Given the description of an element on the screen output the (x, y) to click on. 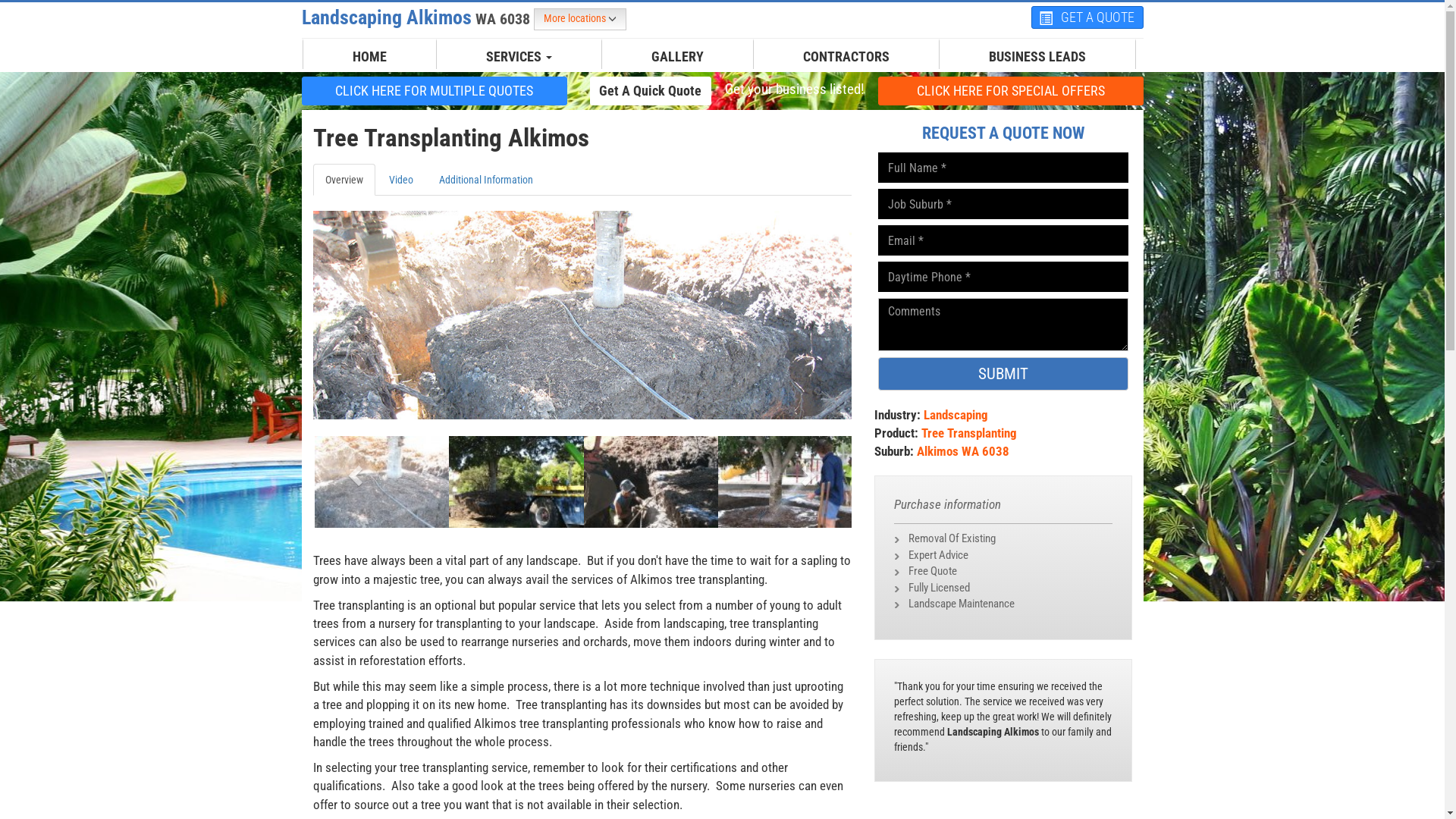
CONTRACTORS Element type: text (845, 56)
HOME Element type: text (369, 56)
Video Element type: text (400, 179)
GET A QUOTE Element type: text (1087, 17)
Get A Quick Quote Element type: text (650, 90)
GALLERY Element type: text (677, 56)
SERVICES Element type: text (518, 56)
SUBMIT Element type: text (1003, 373)
Get your business listed! Element type: text (793, 89)
CLICK HERE FOR SPECIAL OFFERS Element type: text (1010, 90)
More locations Element type: text (579, 19)
Get A Quick Quote Element type: text (650, 90)
prev Element type: hover (352, 470)
Additional Information Element type: text (485, 179)
CLICK HERE FOR MULTIPLE QUOTES Element type: text (434, 90)
BUSINESS LEADS Element type: text (1036, 56)
Landscaping Alkimos WA 6038 Element type: text (417, 17)
CLICK HERE FOR SPECIAL OFFERS Element type: text (1010, 90)
CLICK HERE FOR MULTIPLE QUOTES Element type: text (434, 90)
Overview Element type: text (343, 179)
